Given the description of an element on the screen output the (x, y) to click on. 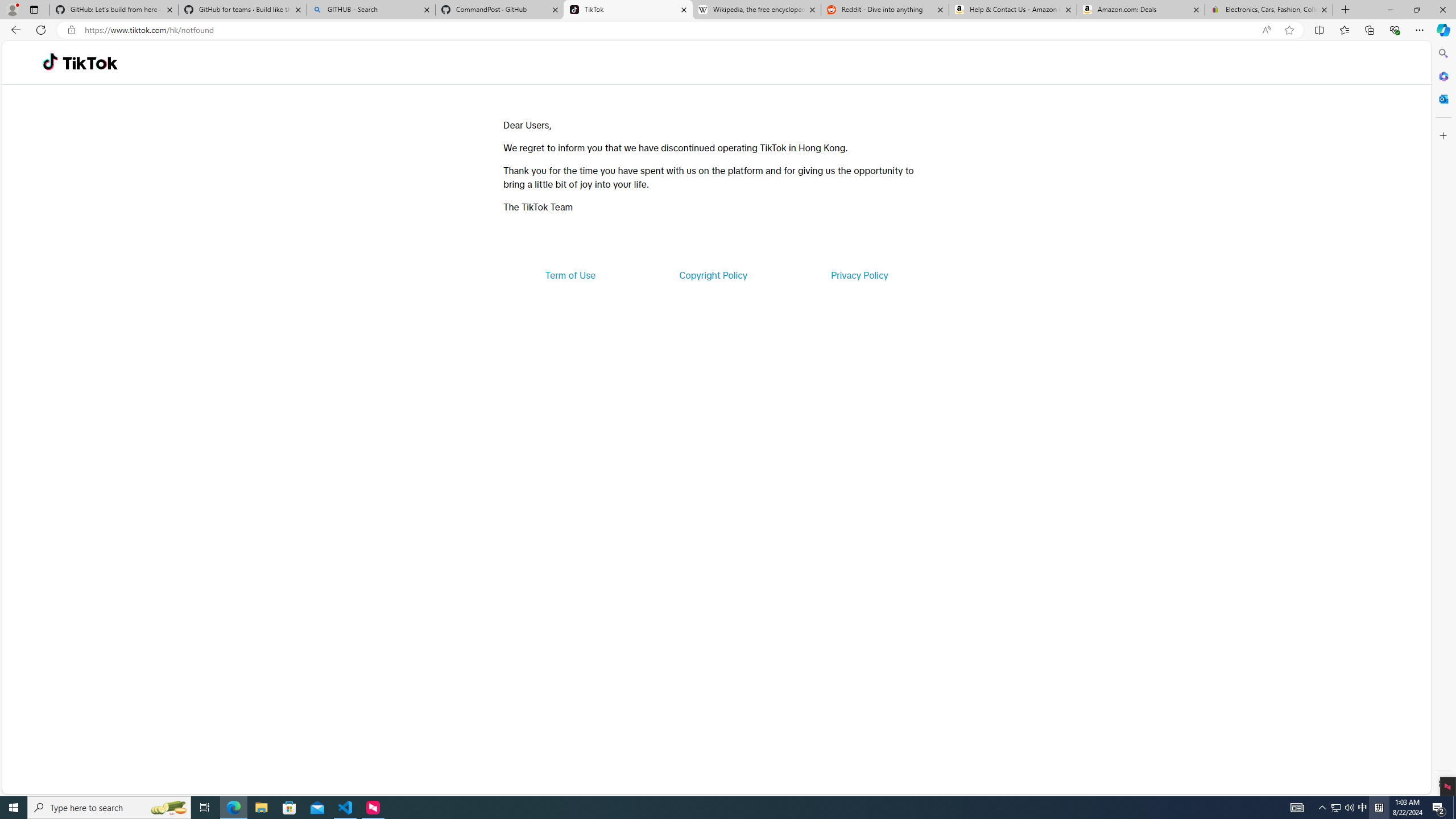
Amazon.com: Deals (1140, 9)
Copyright Policy (712, 274)
